Given the description of an element on the screen output the (x, y) to click on. 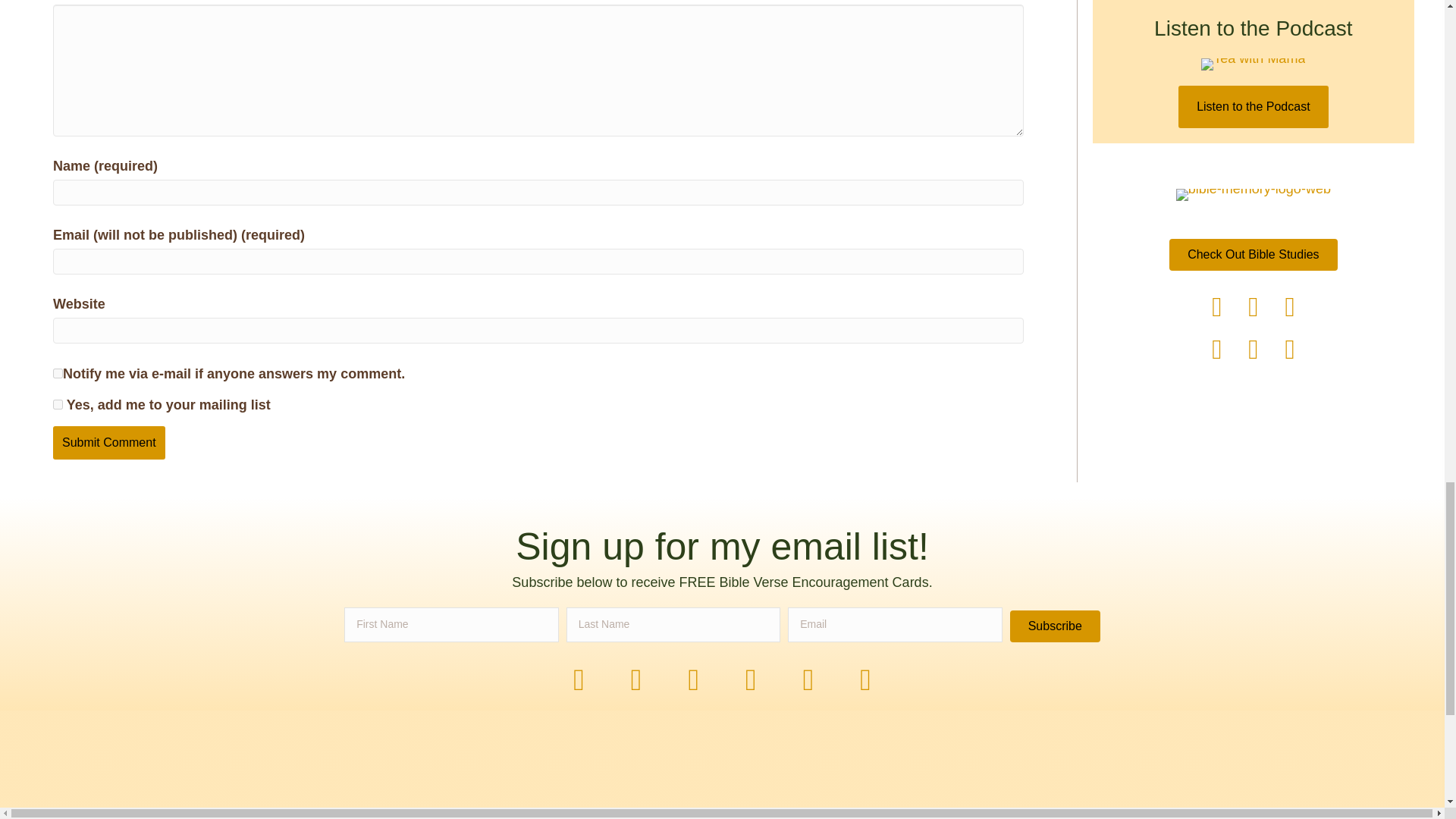
Click Here (1252, 255)
Submit Comment (108, 442)
Submit Comment (108, 442)
on (57, 373)
Click Here (1055, 626)
1 (57, 404)
bible-memory-logo-web (1253, 194)
